Given the description of an element on the screen output the (x, y) to click on. 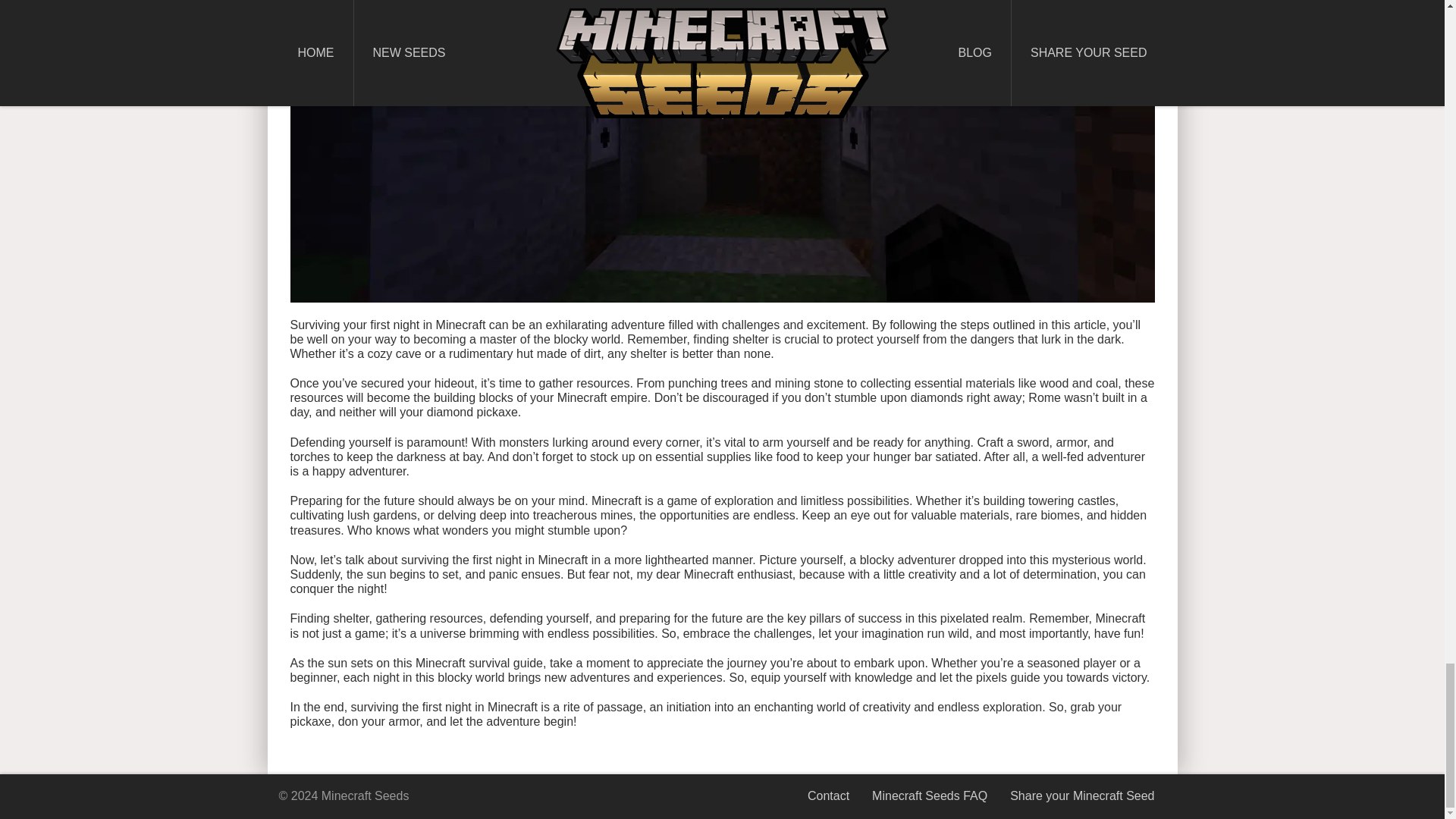
Minecraft Seeds FAQ (929, 795)
Share your Minecraft Seed (1082, 795)
Contact (828, 795)
